Given the description of an element on the screen output the (x, y) to click on. 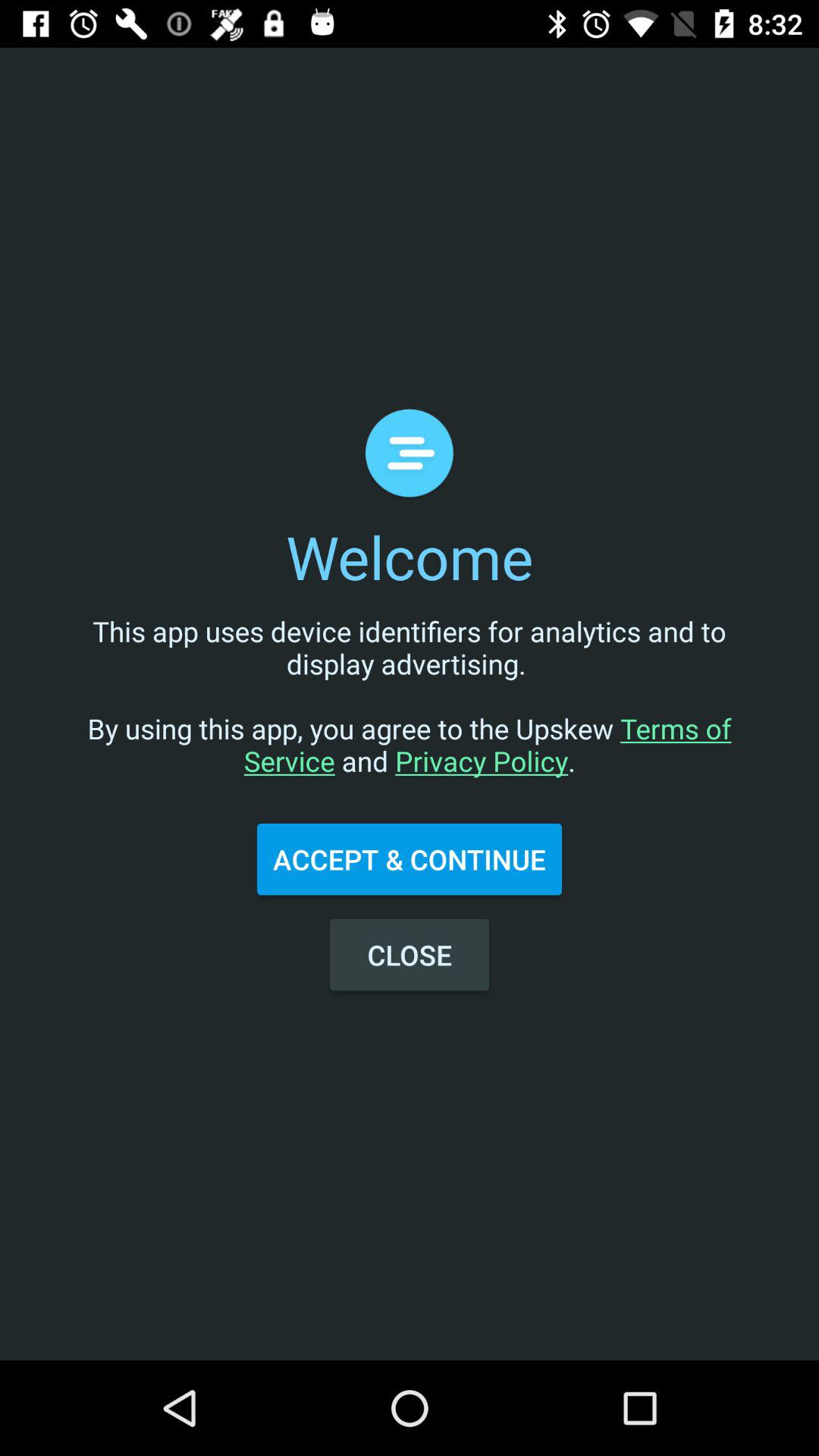
turn on the accept & continue icon (409, 859)
